Given the description of an element on the screen output the (x, y) to click on. 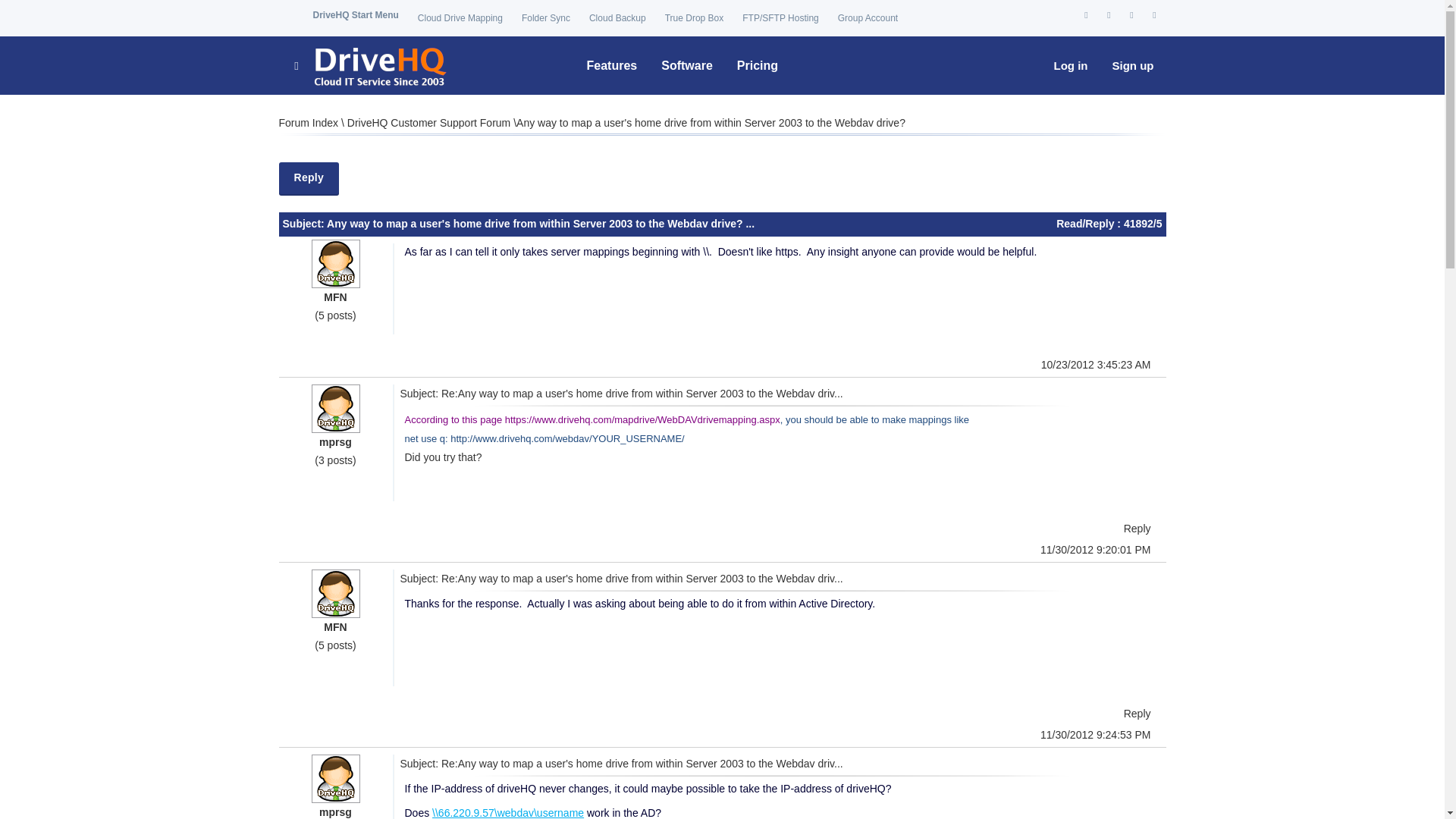
Complete FTP Server hosting solution (780, 18)
Folder Sync (545, 18)
Group Account (868, 18)
Cloud Drive Mapping (459, 18)
True Drop Box (694, 18)
Cloud Backup (617, 18)
DriveHQ Start Menu (355, 15)
Automatically back up PC, Mac and Server to the cloud (617, 18)
DriveHQ Cloud IT Service Home (369, 65)
